Given the description of an element on the screen output the (x, y) to click on. 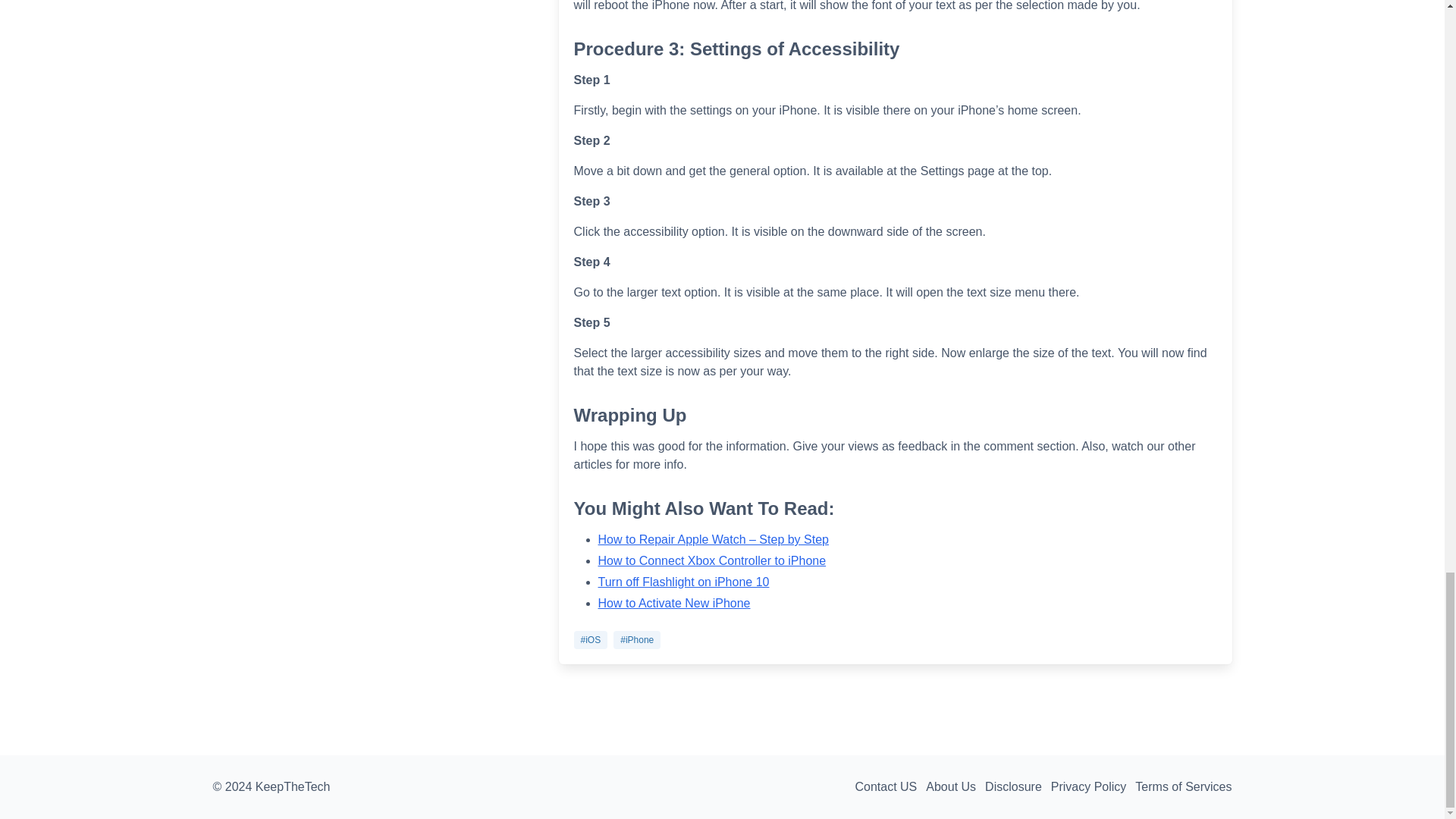
Terms of Services (1187, 786)
Disclosure (1018, 786)
How to Activate New iPhone (674, 603)
Contact US (890, 786)
How to Connect Xbox Controller to iPhone (712, 560)
Terms of Services (1187, 786)
About Us (955, 786)
Contact US (890, 786)
Disclosure (1018, 786)
About Us (955, 786)
Turn off Flashlight on iPhone 10 (684, 581)
Privacy Policy (1093, 786)
Privacy Policy (1093, 786)
